Given the description of an element on the screen output the (x, y) to click on. 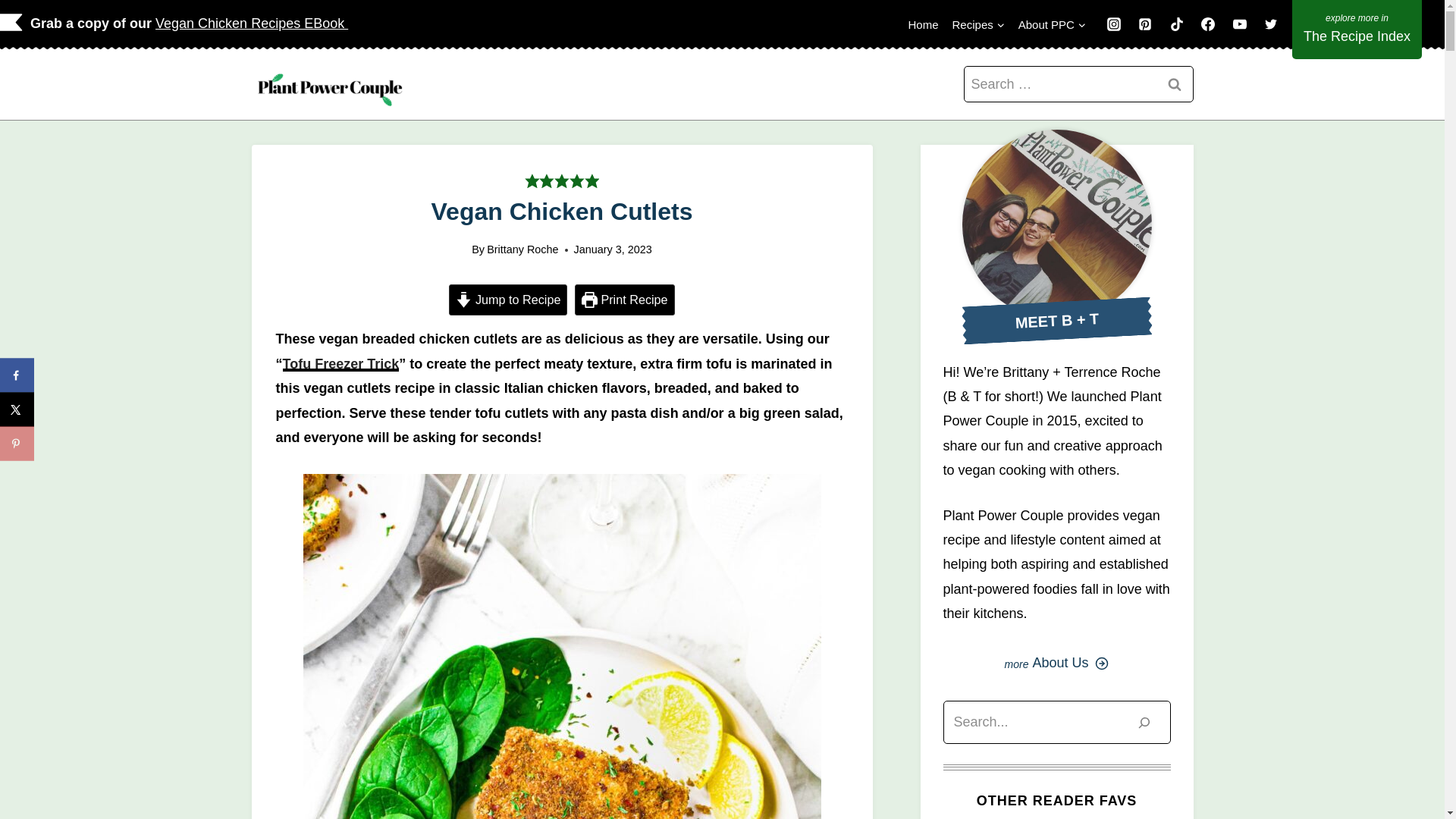
The Recipe Index (1357, 29)
Jump to Recipe (507, 299)
Recipes (977, 24)
Search (1174, 84)
Tofu Freezer Trick (340, 363)
Search (1174, 84)
Print Recipe (625, 299)
Share on X (16, 409)
About PPC (1052, 24)
Save to Pinterest (16, 442)
